Given the description of an element on the screen output the (x, y) to click on. 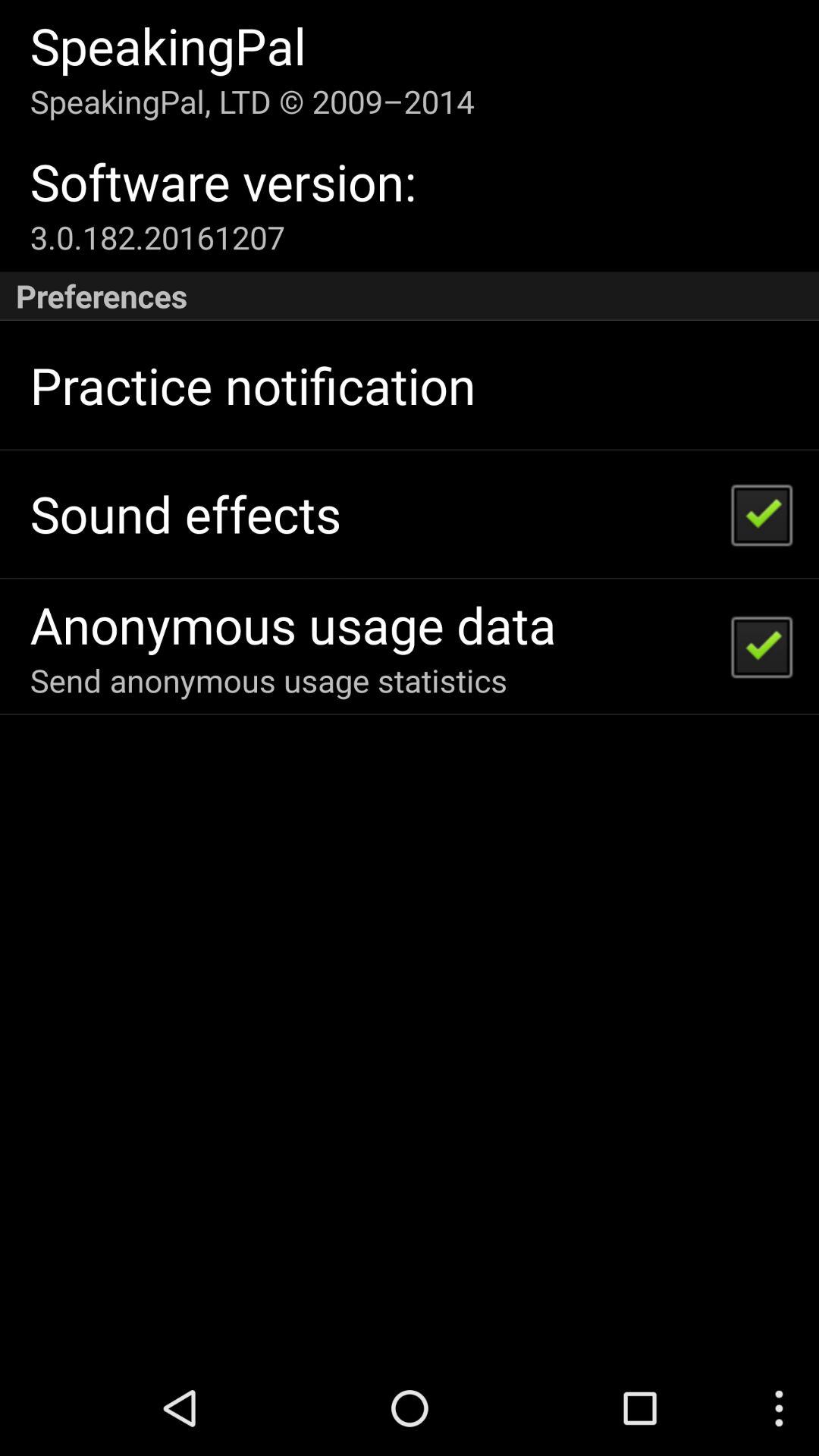
turn on icon above preferences item (157, 236)
